Given the description of an element on the screen output the (x, y) to click on. 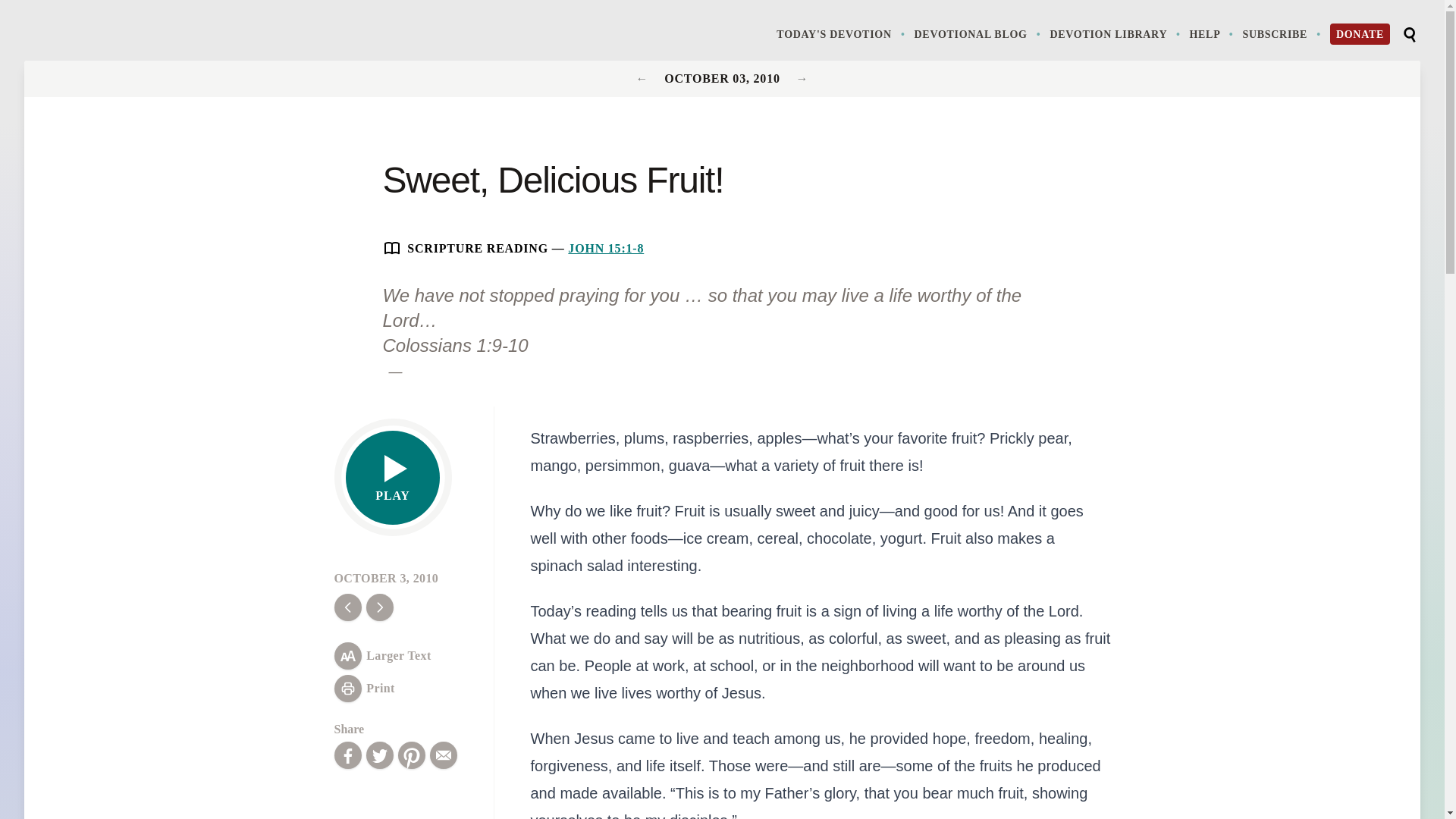
Share on Facebook (347, 755)
Share on Pinterest (411, 755)
Share by Email (443, 755)
Previous Devotion: October 02, 2010 (644, 78)
DONATE (1360, 34)
DEVOTIONAL BLOG (978, 34)
TODAY'S DEVOTION (841, 34)
Share on Facebook (347, 755)
Previous Devotion: October 03, 2010 (802, 78)
Print (363, 687)
